Given the description of an element on the screen output the (x, y) to click on. 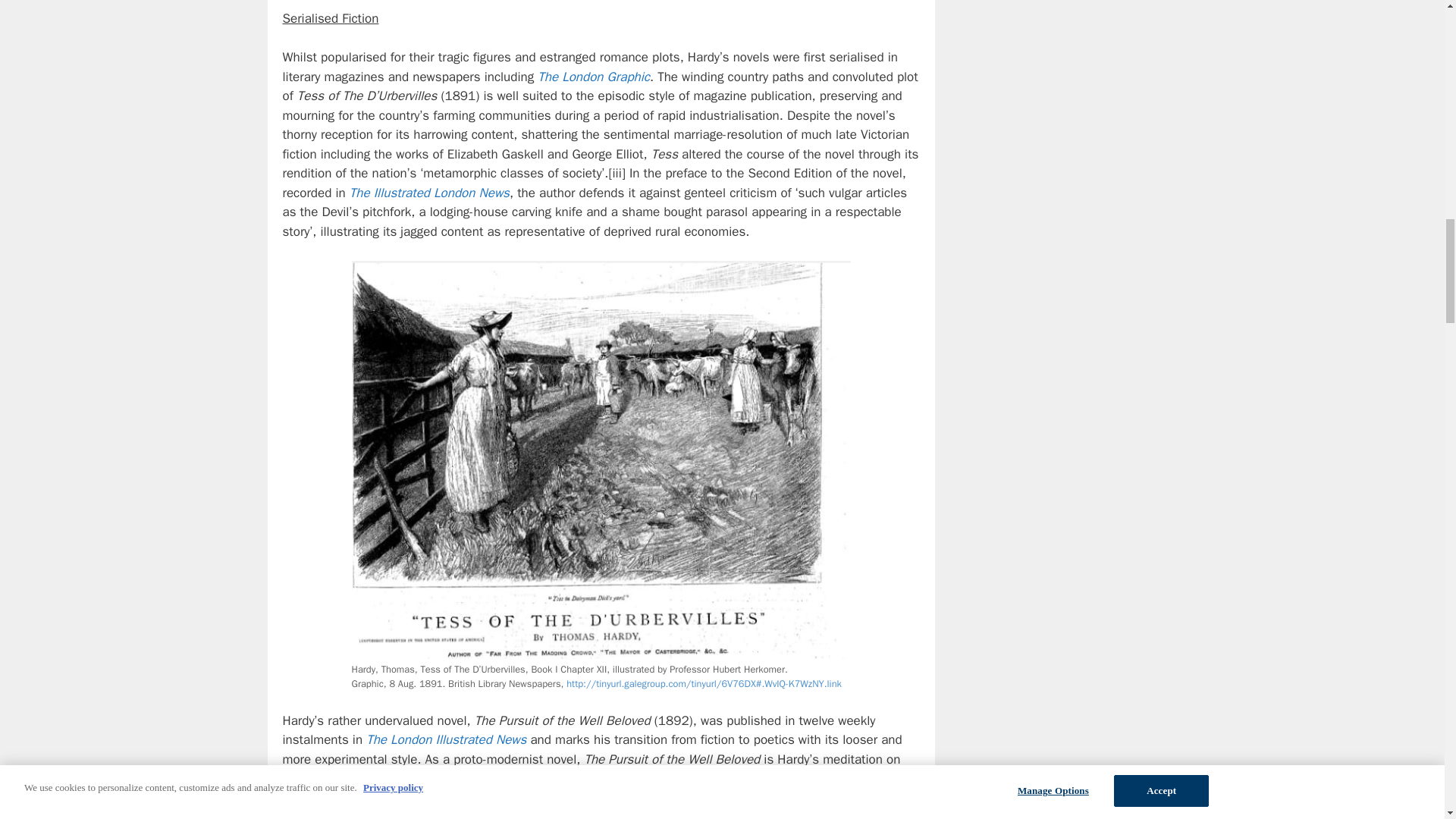
The Illustrated London News (429, 192)
The London Illustrated News (445, 739)
The London Graphic (593, 76)
